Given the description of an element on the screen output the (x, y) to click on. 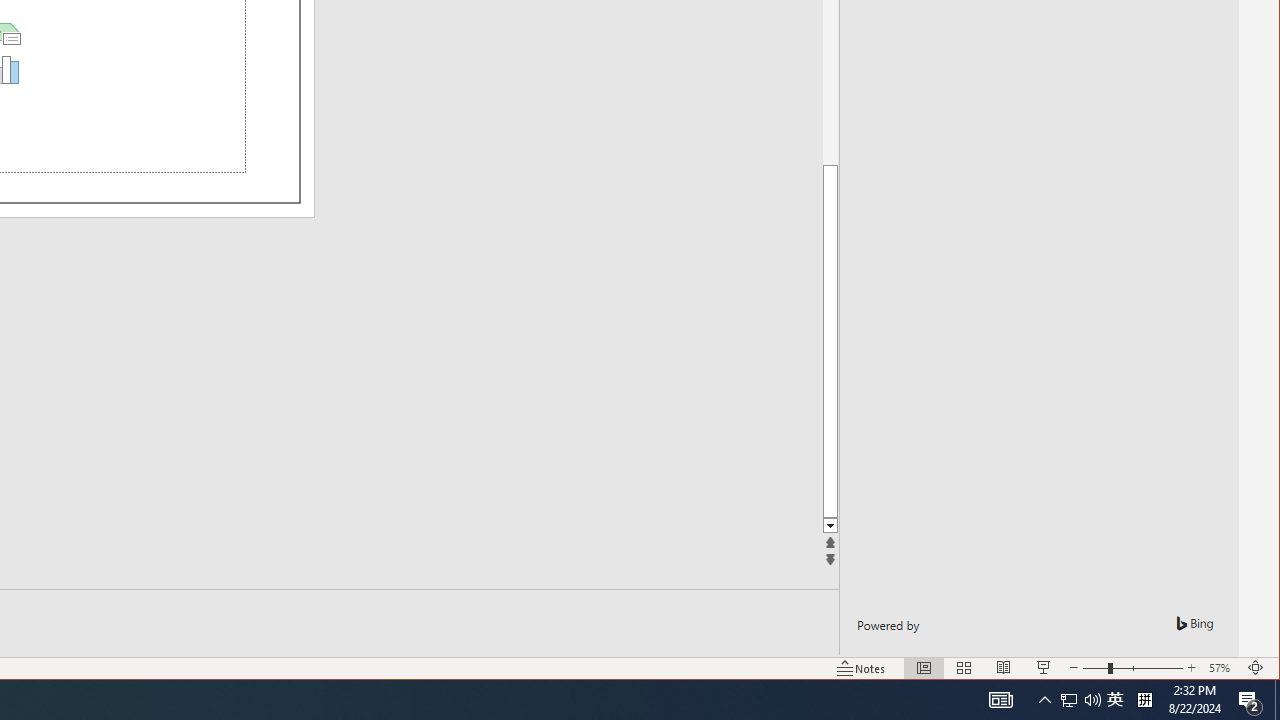
AutomationID: 4105 (1000, 699)
Q2790: 100% (1092, 699)
Show desktop (1277, 699)
User Promoted Notification Area (1115, 699)
Action Center, 2 new notifications (1080, 699)
